Given the description of an element on the screen output the (x, y) to click on. 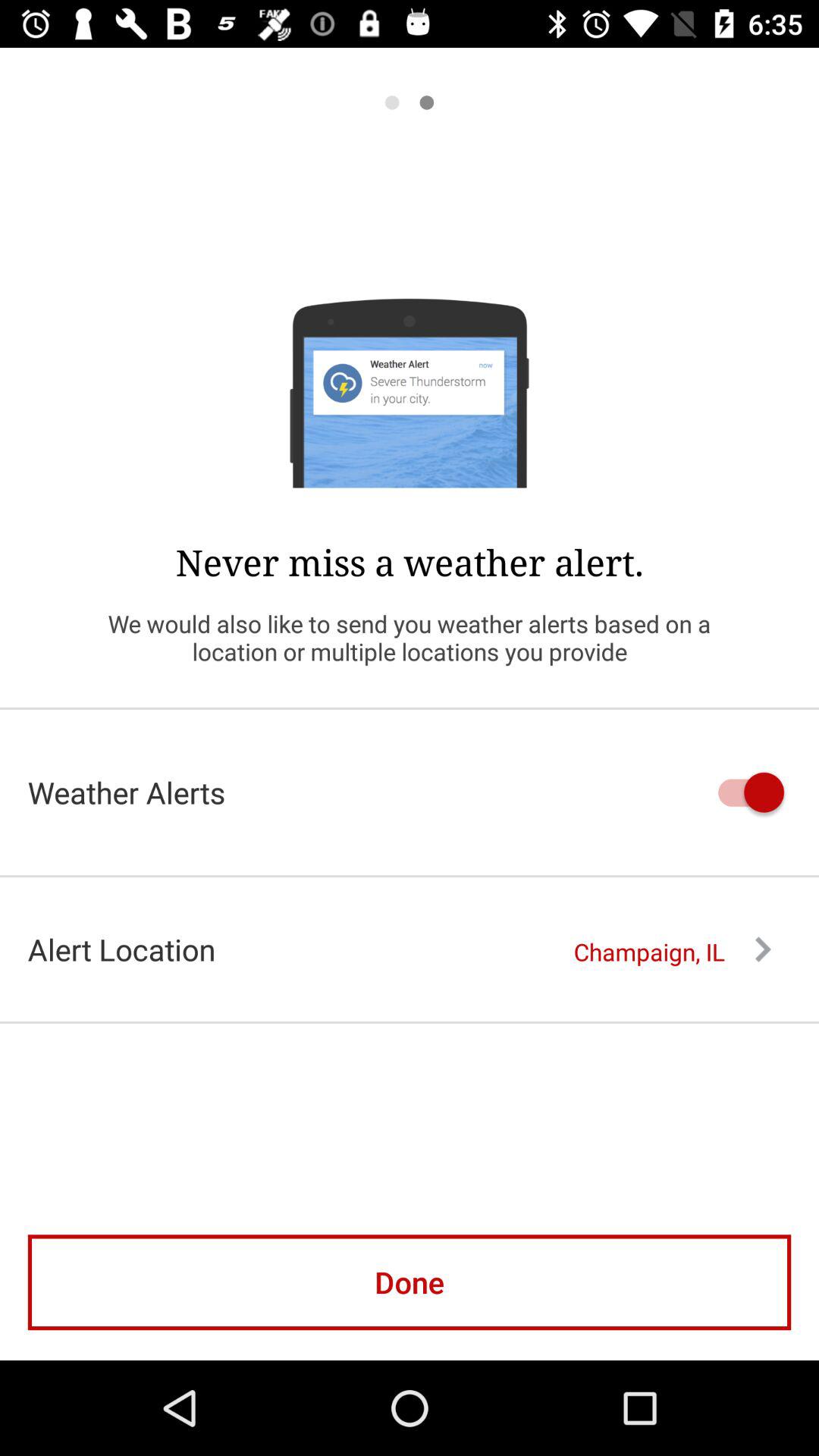
select champaign, il (672, 951)
